Given the description of an element on the screen output the (x, y) to click on. 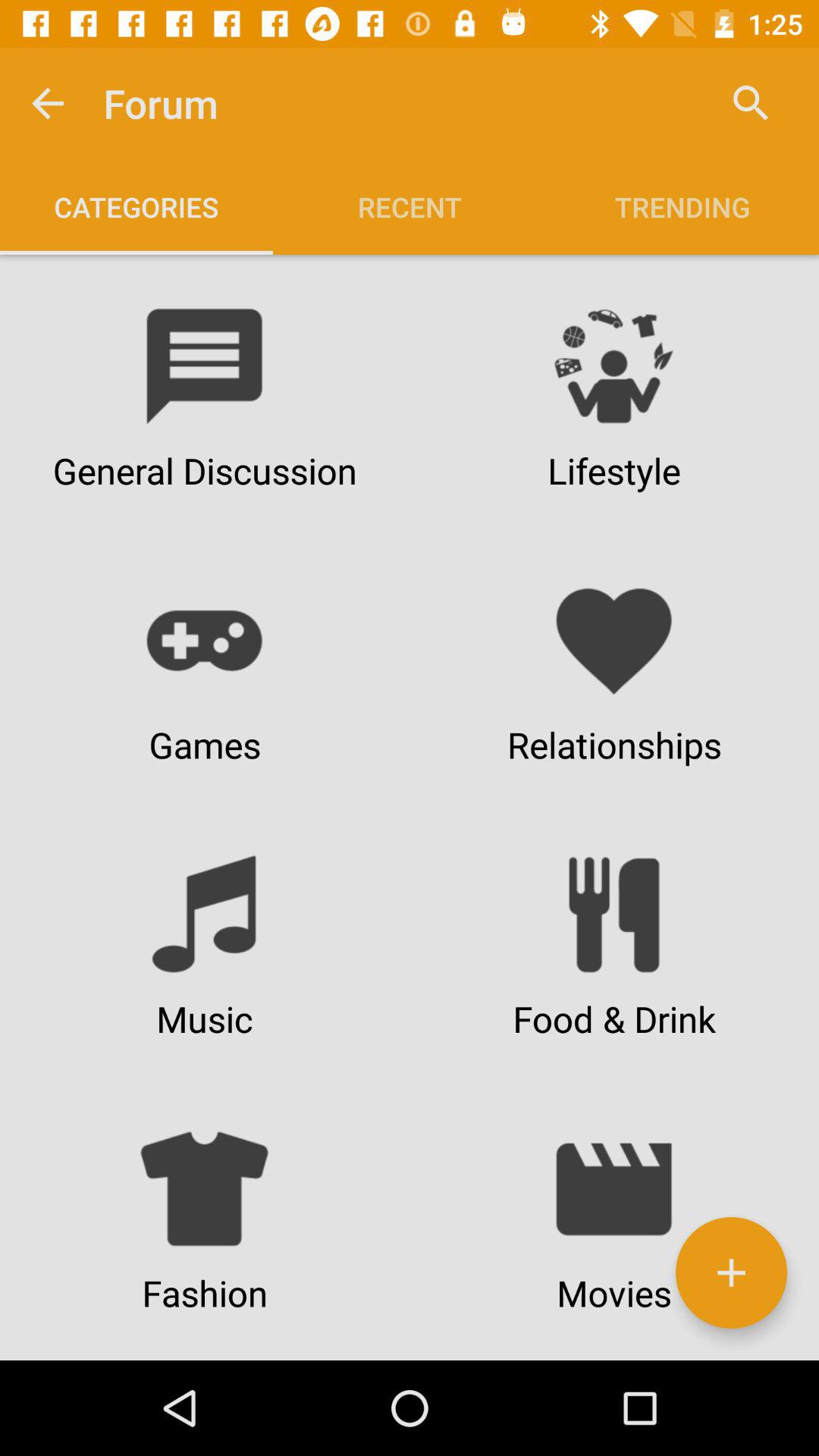
tap item above trending item (751, 103)
